Given the description of an element on the screen output the (x, y) to click on. 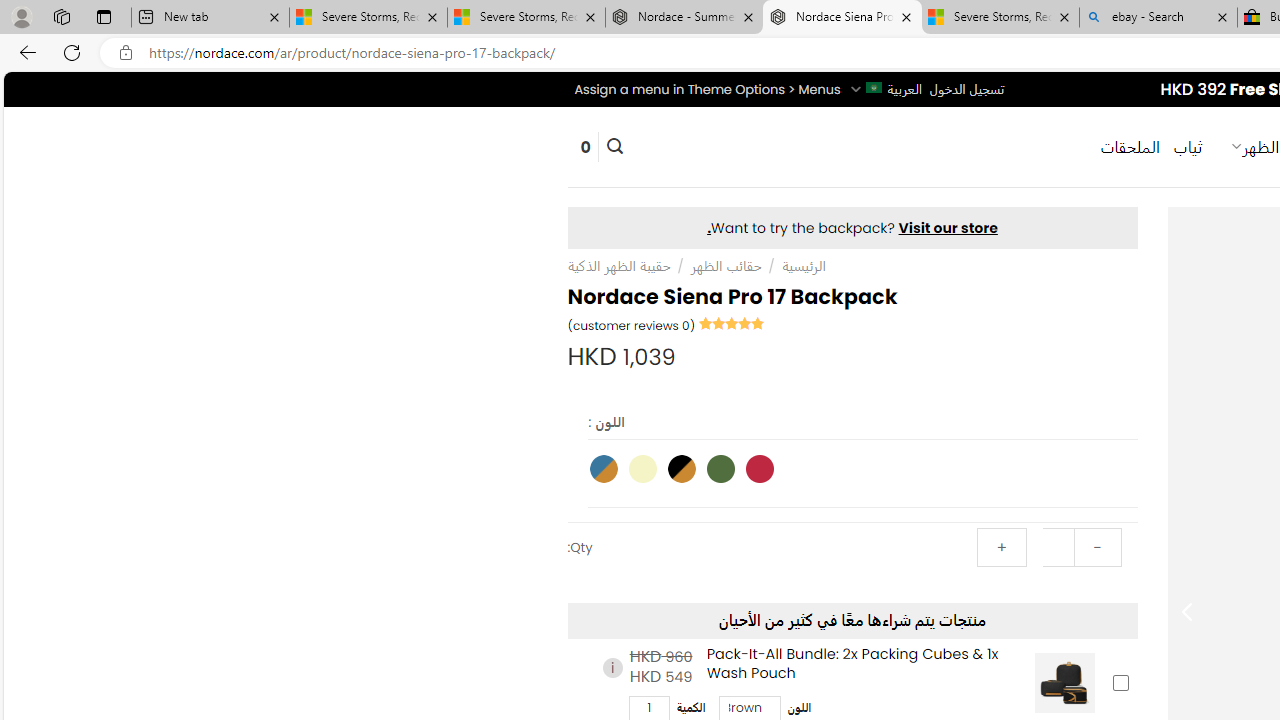
Nordace Siena Pro 17 Backpack (842, 17)
 0 (585, 146)
Assign a menu in Theme Options > Menus (706, 89)
+ (1001, 547)
(0 customer reviews) (631, 324)
  0 (585, 146)
